Given the description of an element on the screen output the (x, y) to click on. 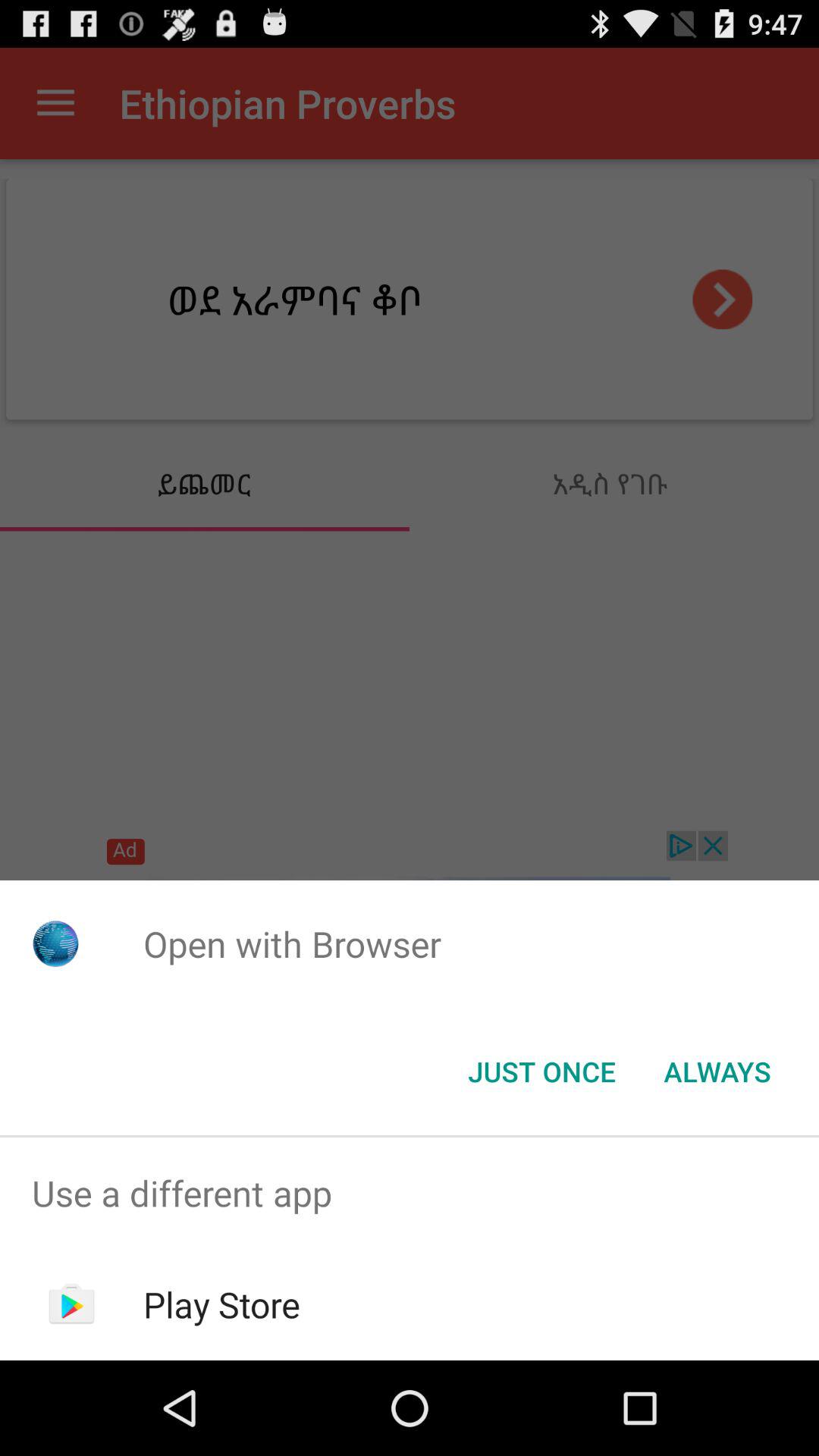
swipe until play store app (221, 1304)
